Given the description of an element on the screen output the (x, y) to click on. 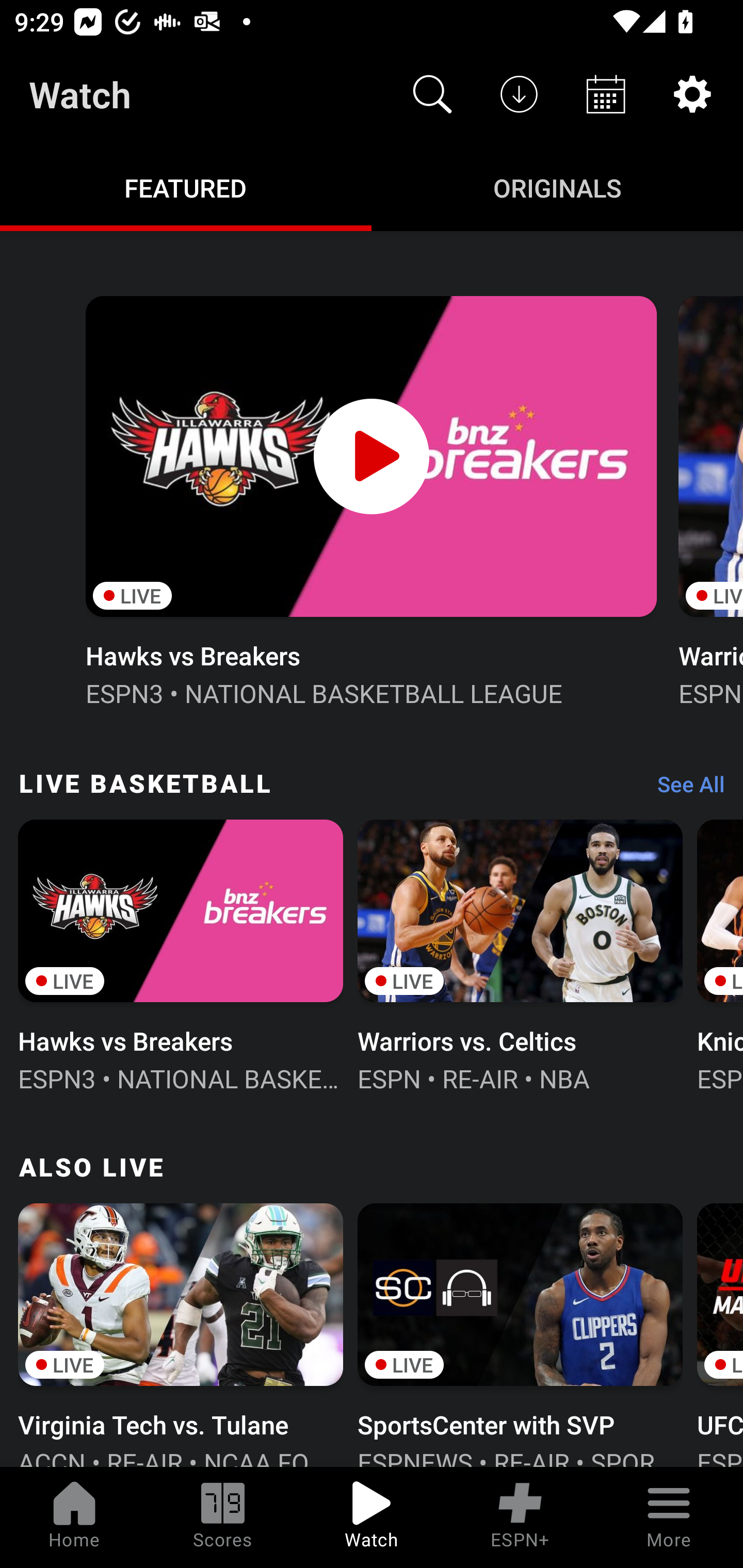
Search (432, 93)
Downloads (518, 93)
Schedule (605, 93)
Settings (692, 93)
Originals ORIGINALS (557, 187)
See All (683, 788)
LIVE Warriors vs. Celtics ESPN • RE-AIR • NBA (519, 954)
Home (74, 1517)
Scores (222, 1517)
ESPN+ (519, 1517)
More (668, 1517)
